Given the description of an element on the screen output the (x, y) to click on. 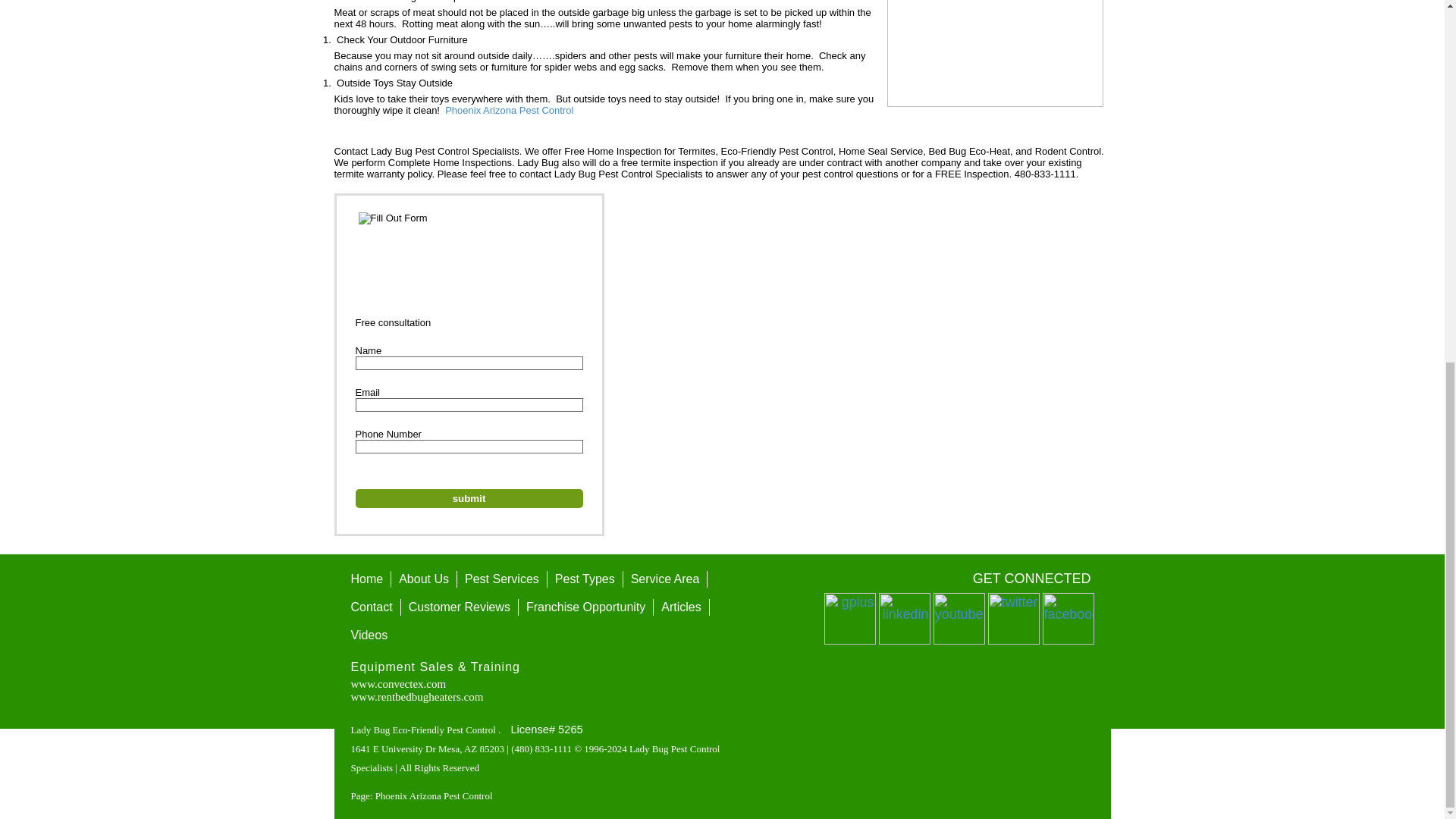
Franchise Opportunity (585, 606)
submit (468, 497)
Phoenix Arizona Pest Control (509, 110)
Service Area (665, 579)
Articles (680, 606)
Home (366, 579)
submit (468, 497)
Contact (370, 606)
Videos (368, 635)
About Us (424, 579)
